Given the description of an element on the screen output the (x, y) to click on. 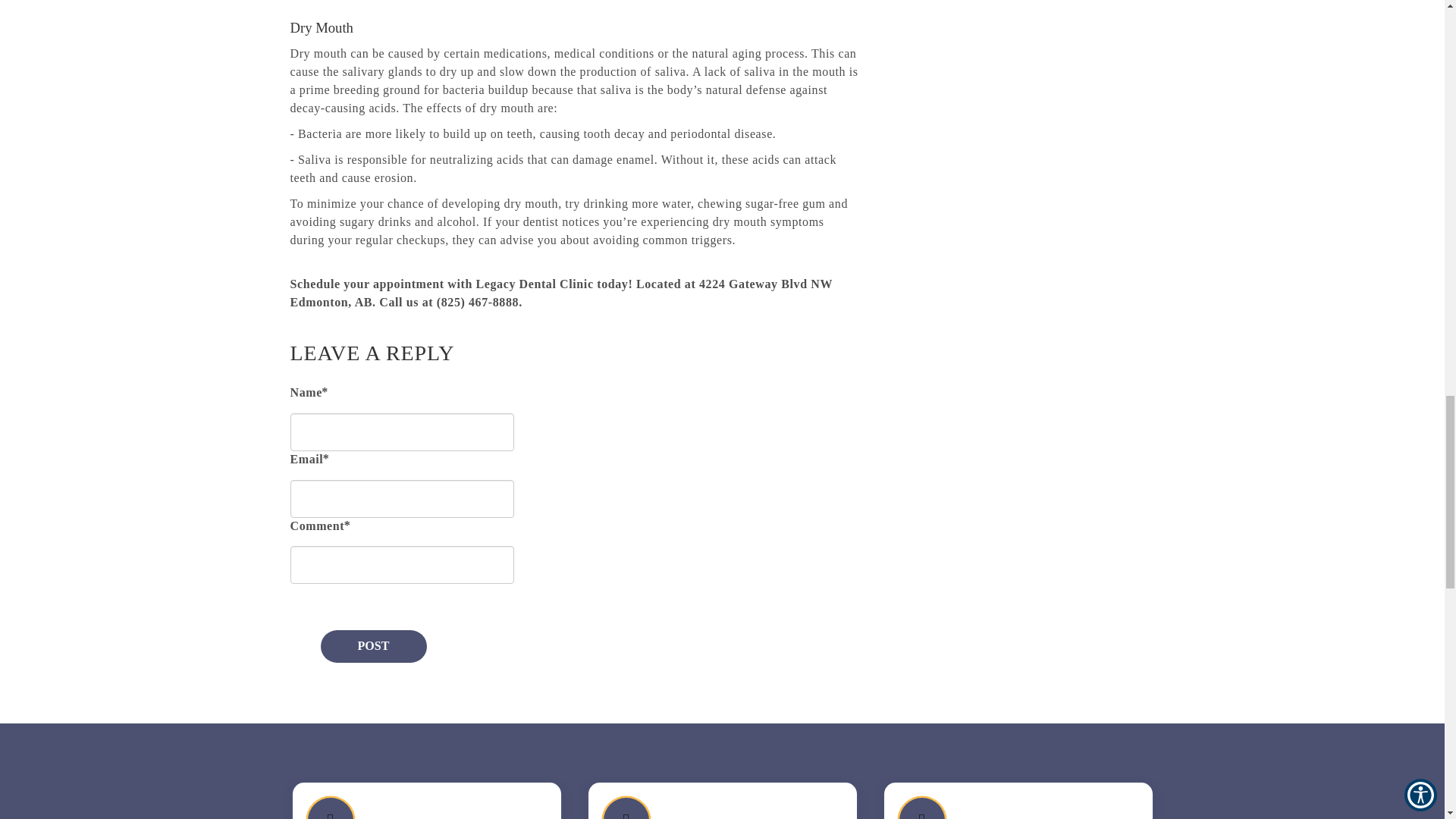
POST (373, 645)
